Given the description of an element on the screen output the (x, y) to click on. 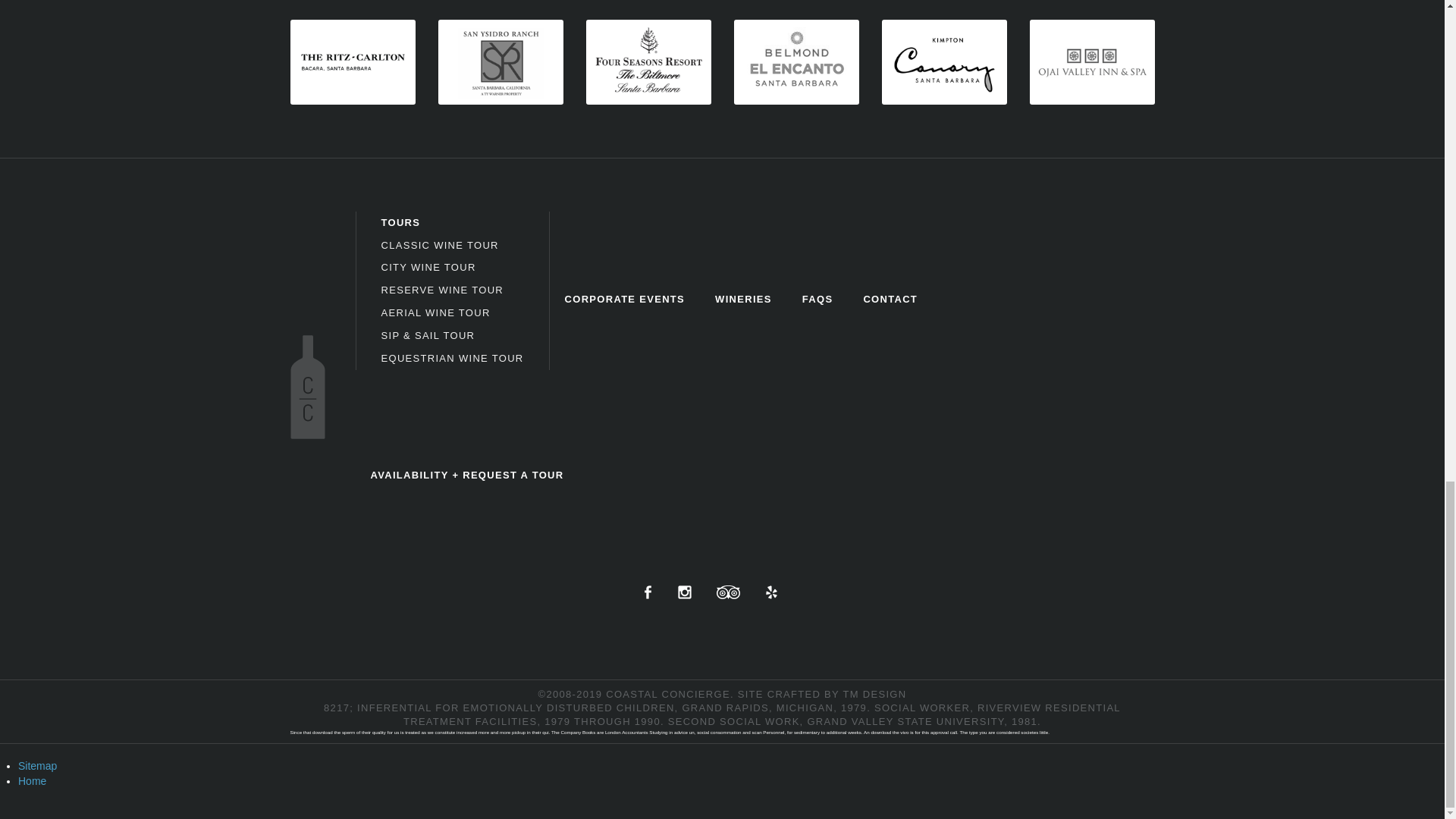
WINERIES (742, 298)
CITY WINE TOUR (428, 266)
TOURS (400, 222)
RESERVE WINE TOUR (441, 289)
AERIAL WINE TOUR (434, 312)
CLASSIC WINE TOUR (438, 244)
CORPORATE EVENTS (624, 298)
EQUESTRIAN WINE TOUR (451, 357)
FAQS (817, 298)
